Given the description of an element on the screen output the (x, y) to click on. 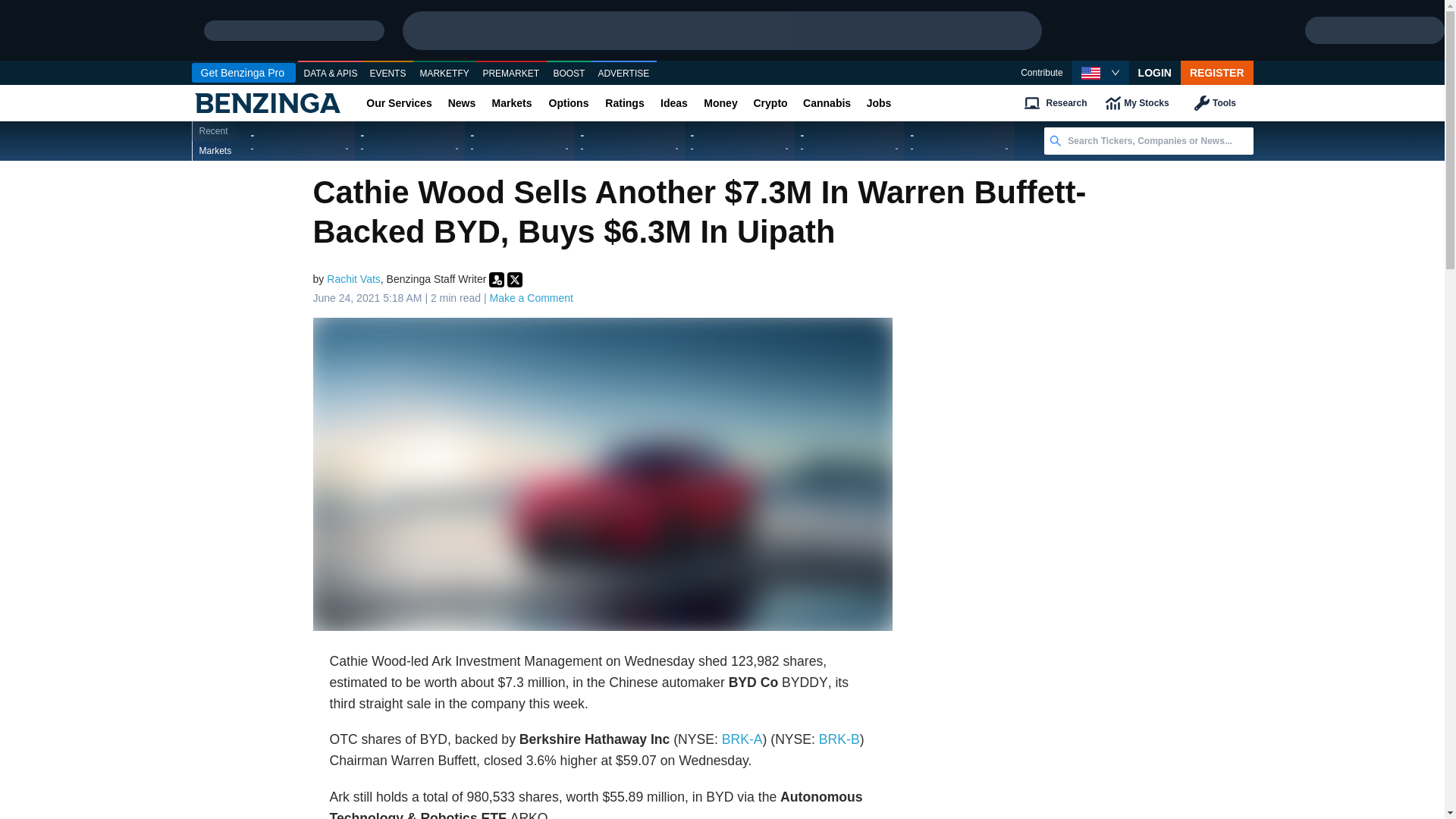
REGISTER (1216, 72)
PREMARKET (511, 73)
Our Services (398, 103)
LOGIN (1154, 72)
ADVERTISE (623, 73)
MARKETFY (444, 73)
USA (1090, 72)
Our Services (398, 103)
EVENTS (387, 73)
News (461, 103)
News (461, 103)
Contribute (1041, 72)
Get Benzinga Pro (242, 72)
BOOST (569, 73)
